Given the description of an element on the screen output the (x, y) to click on. 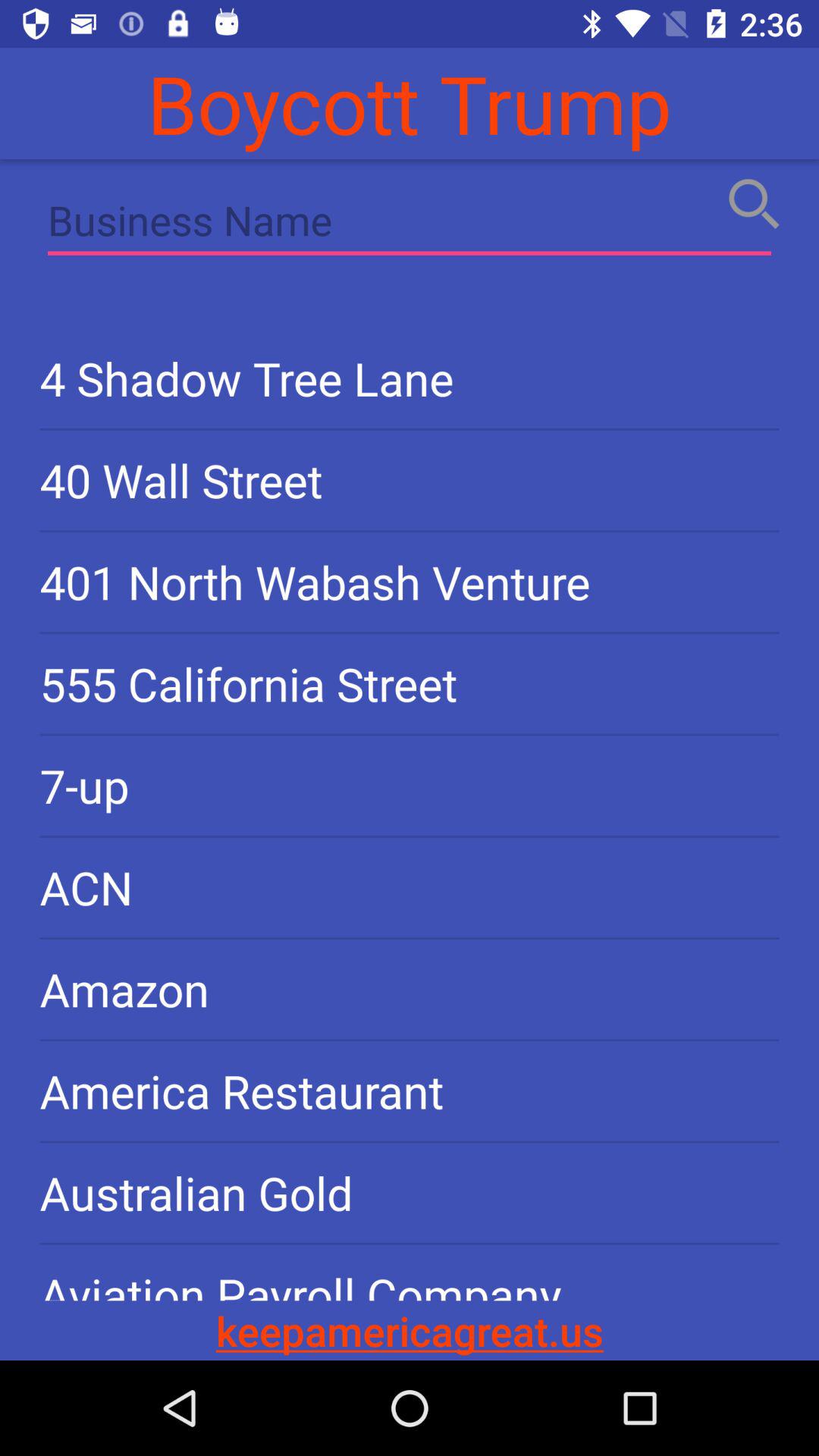
jump to keepamericagreat.us  item (409, 1330)
